Given the description of an element on the screen output the (x, y) to click on. 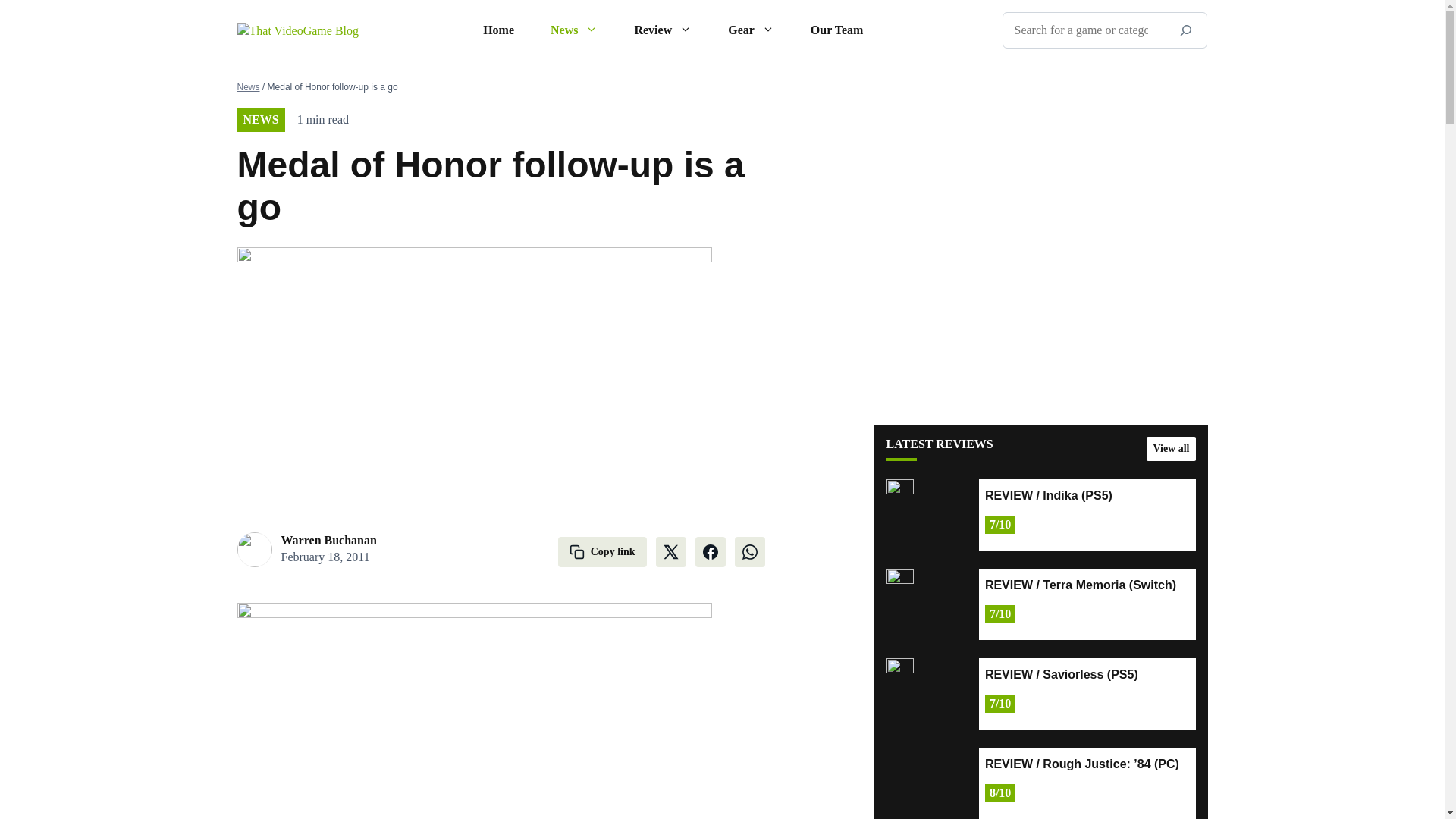
News (573, 29)
Review (662, 29)
Gear (751, 29)
Home (498, 29)
